Given the description of an element on the screen output the (x, y) to click on. 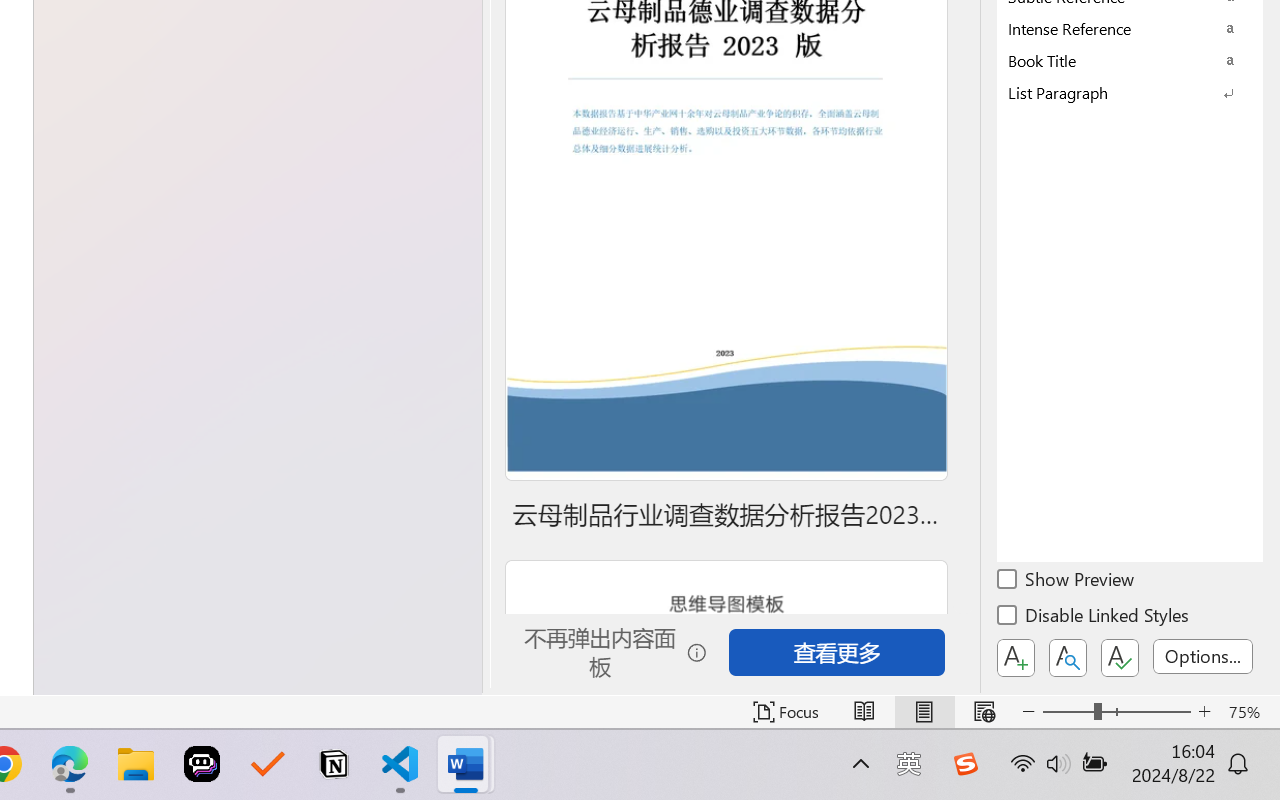
List Paragraph (1130, 92)
Class: NetUIButton (1119, 657)
Print Layout (924, 712)
Class: Image (965, 764)
Book Title (1130, 60)
Read Mode (864, 712)
Disable Linked Styles (1094, 618)
Show Preview (1067, 582)
Zoom Out (1067, 712)
Focus  (786, 712)
Web Layout (984, 712)
Intense Reference (1130, 28)
Class: NetUIImage (1116, 92)
